Given the description of an element on the screen output the (x, y) to click on. 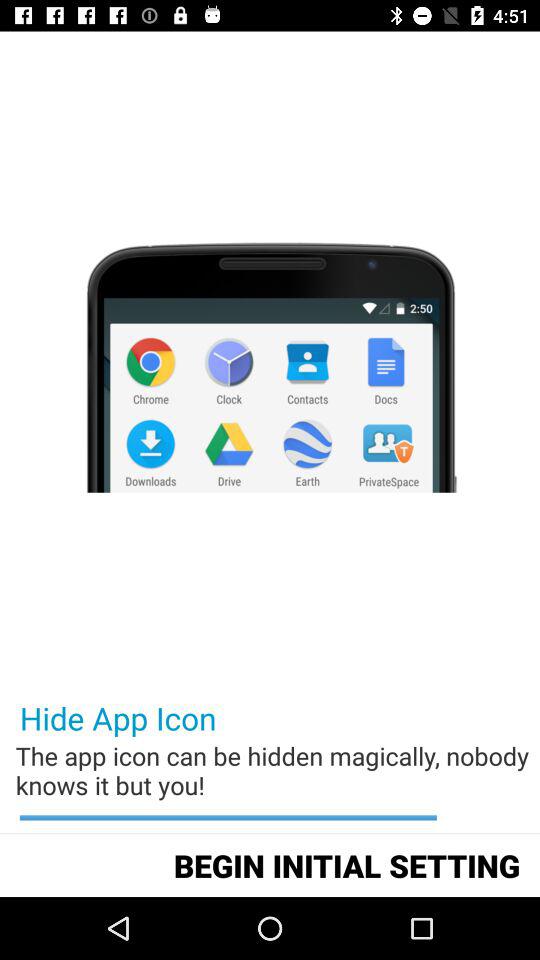
select begin initial setting icon (346, 864)
